Given the description of an element on the screen output the (x, y) to click on. 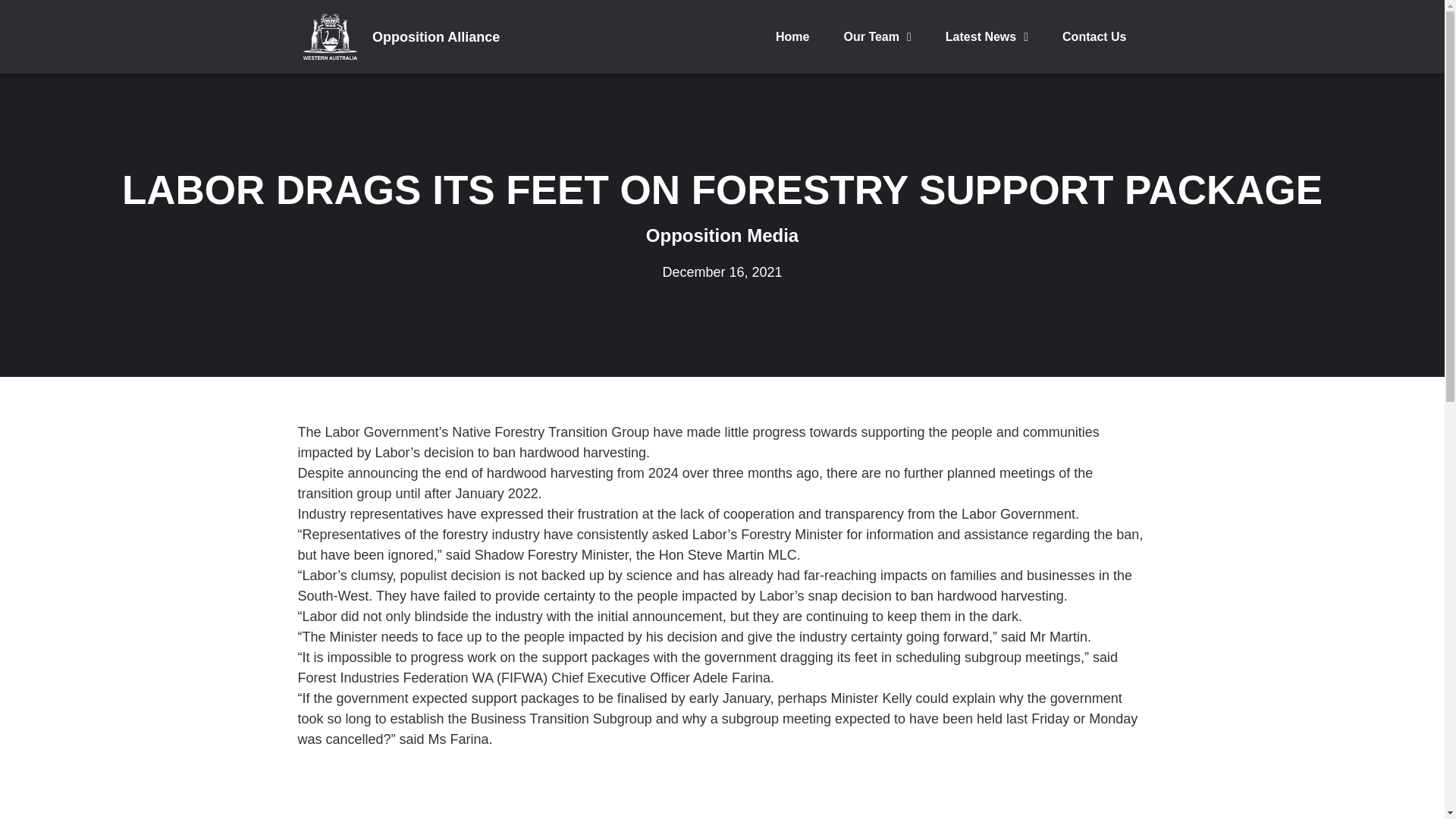
Our Team (877, 36)
Opposition Alliance (435, 37)
Contact Us (1093, 36)
Home (792, 36)
December 16, 2021 (721, 272)
Latest News (986, 36)
